Given the description of an element on the screen output the (x, y) to click on. 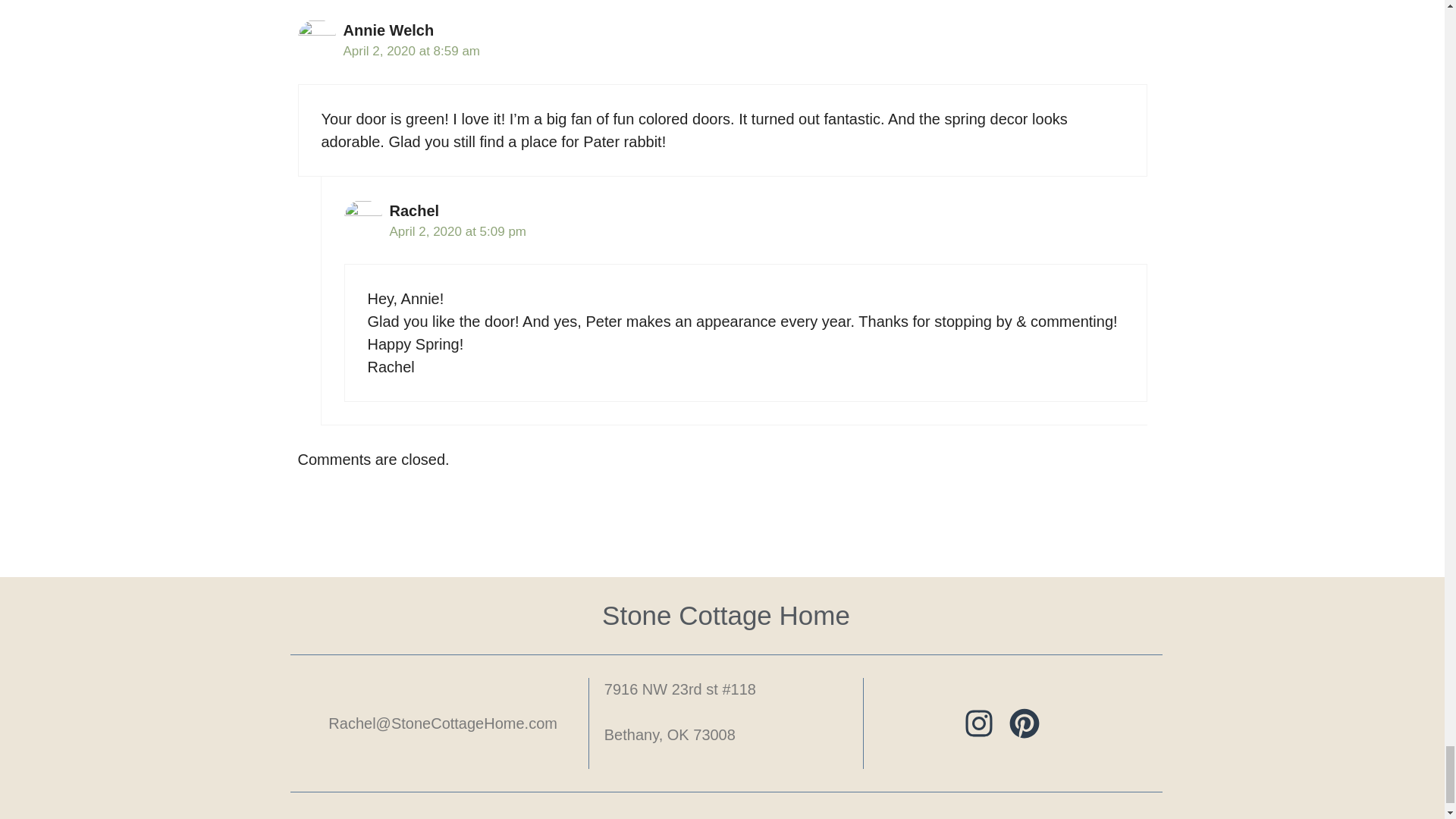
April 2, 2020 at 8:59 am (411, 51)
DISCLAIMER (989, 816)
PRIVACY POLICY (849, 816)
April 2, 2020 at 5:09 pm (458, 231)
